Given the description of an element on the screen output the (x, y) to click on. 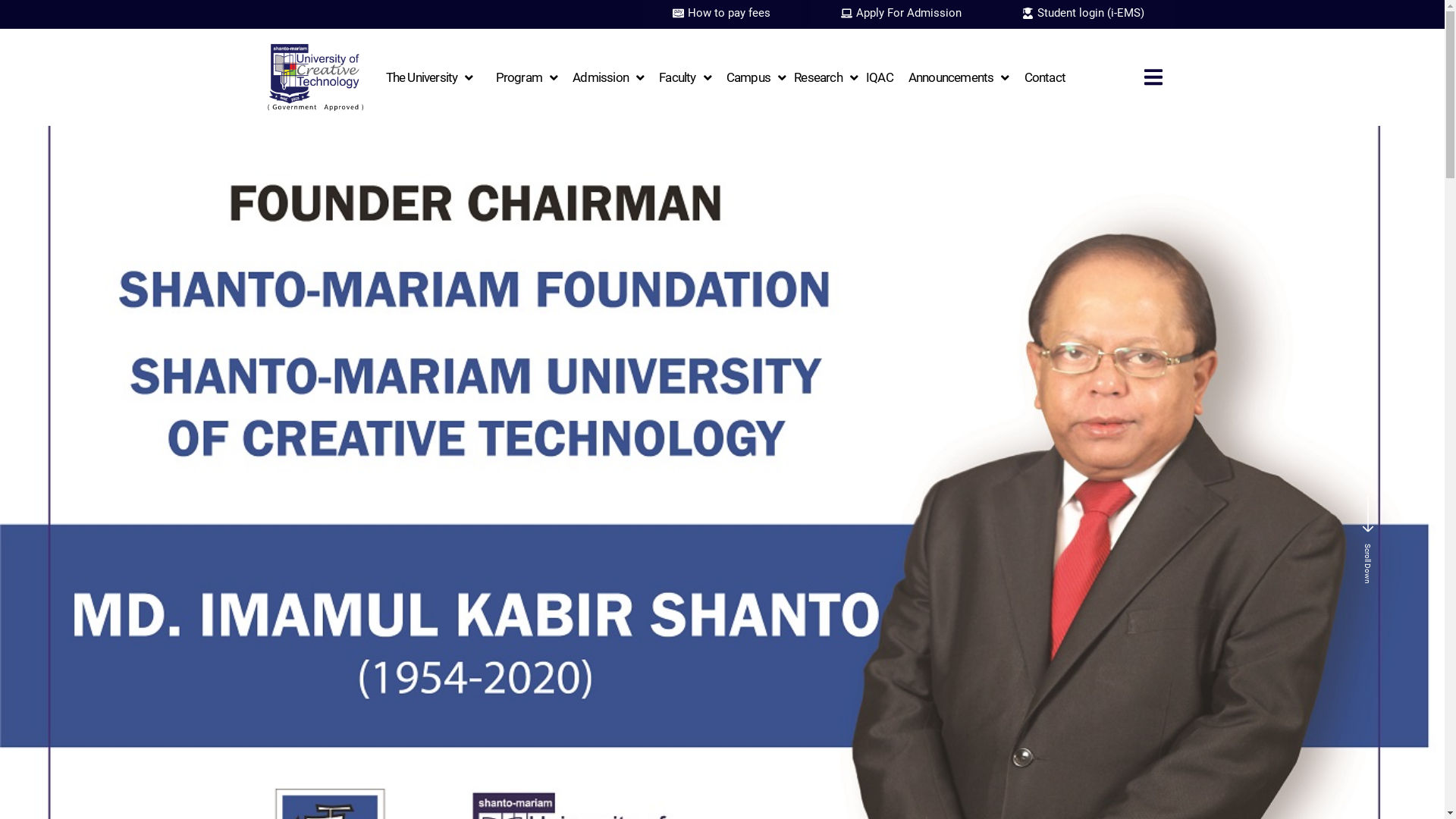
How to pay fees Element type: text (721, 14)
Faculty Element type: text (684, 77)
The University Element type: text (428, 77)
Program Element type: text (526, 77)
Contact Element type: text (1044, 77)
Student login (i-EMS) Element type: text (1082, 14)
Scroll Down Element type: text (1367, 531)
Research Element type: text (825, 77)
Admission Element type: text (607, 77)
IQAC Element type: text (879, 77)
Apply For Admission Element type: text (900, 14)
Campus Element type: text (755, 77)
Announcements Element type: text (958, 77)
